Given the description of an element on the screen output the (x, y) to click on. 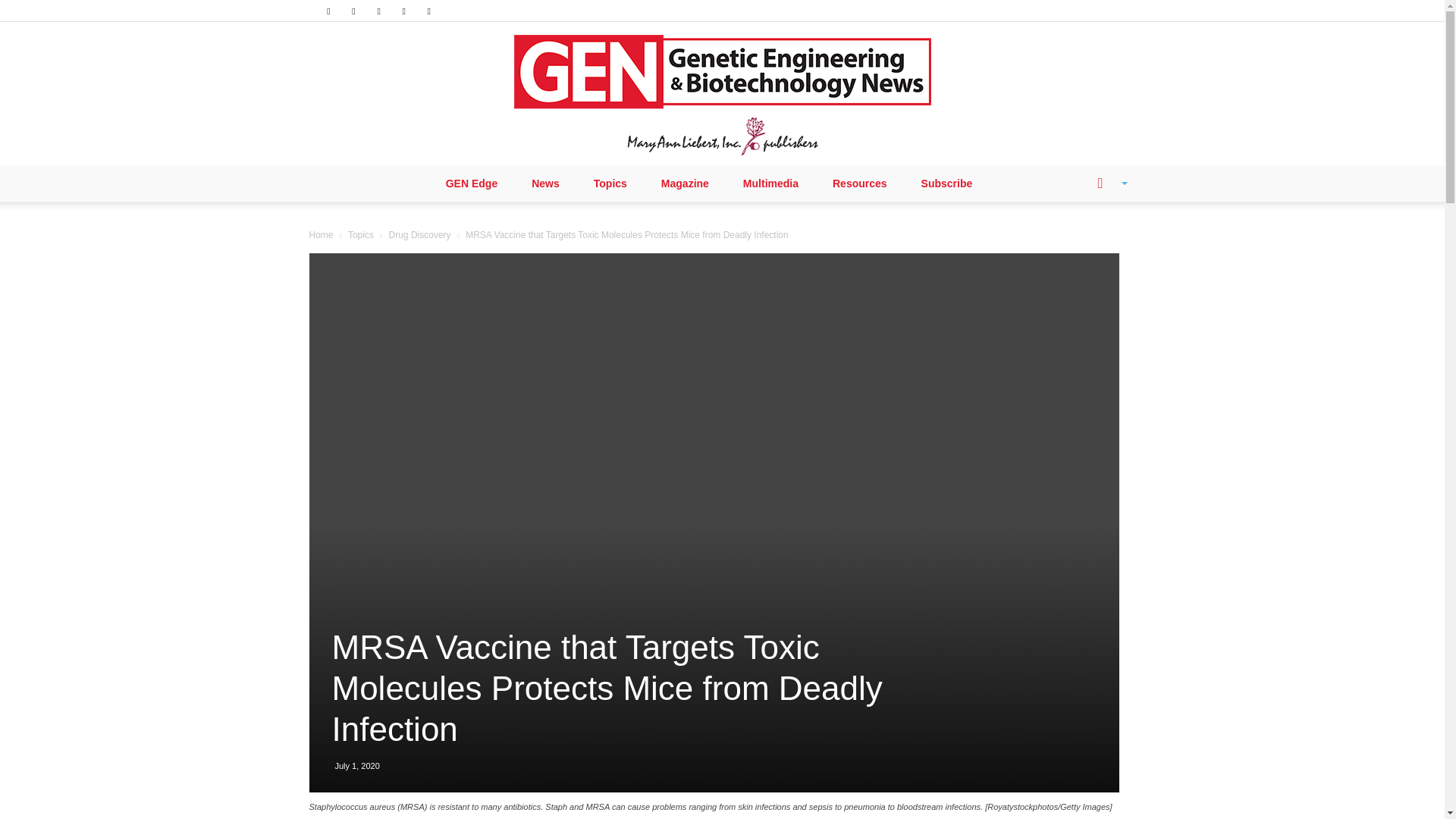
Facebook (328, 10)
View all posts in Drug Discovery (419, 235)
Twitter (403, 10)
Linkedin (353, 10)
Youtube (429, 10)
RSS (379, 10)
View all posts in Topics (360, 235)
